Given the description of an element on the screen output the (x, y) to click on. 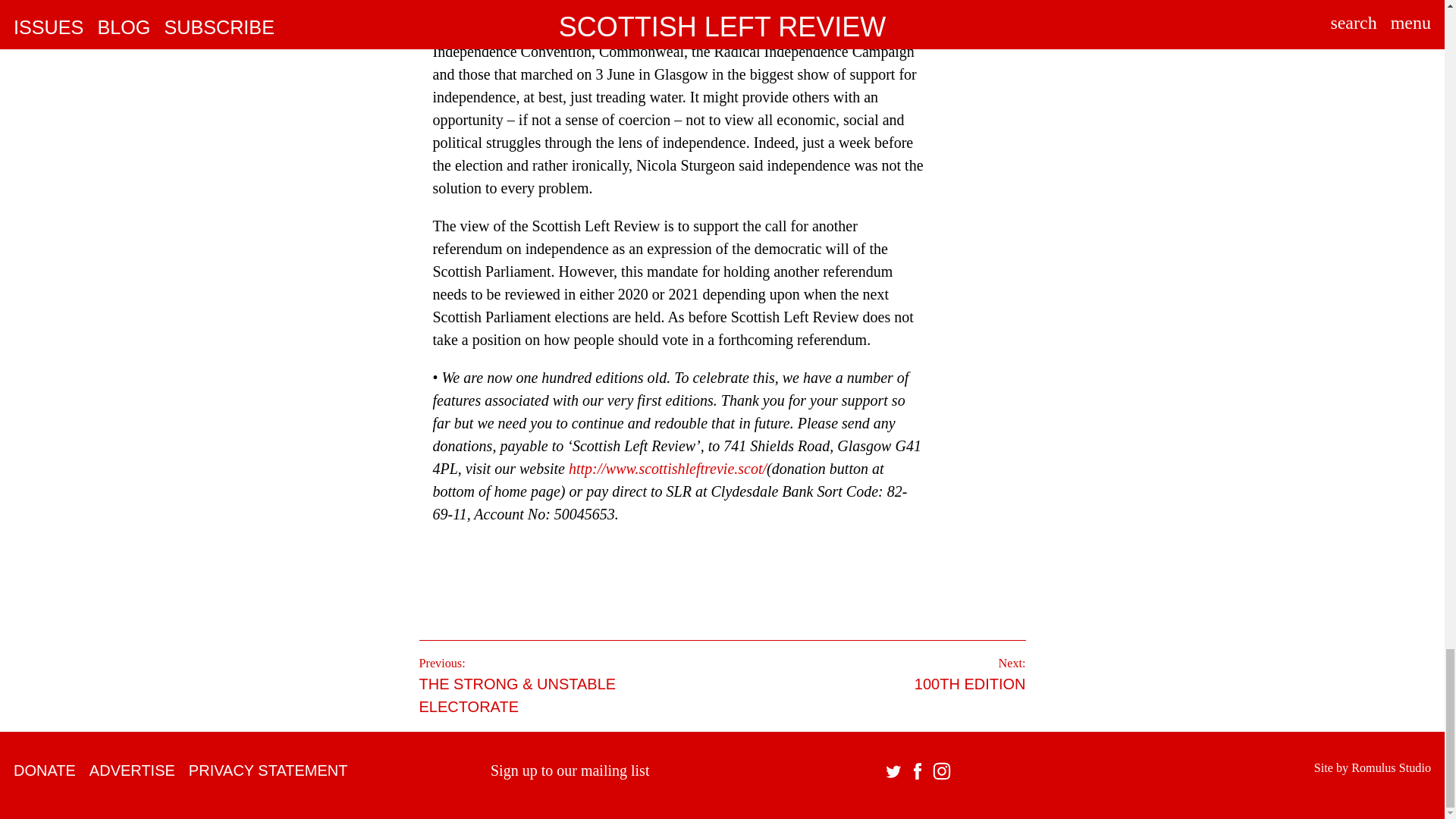
PRIVACY STATEMENT (268, 770)
DONATE (44, 770)
ADVERTISE (131, 770)
Romulus Studio (1391, 767)
